Given the description of an element on the screen output the (x, y) to click on. 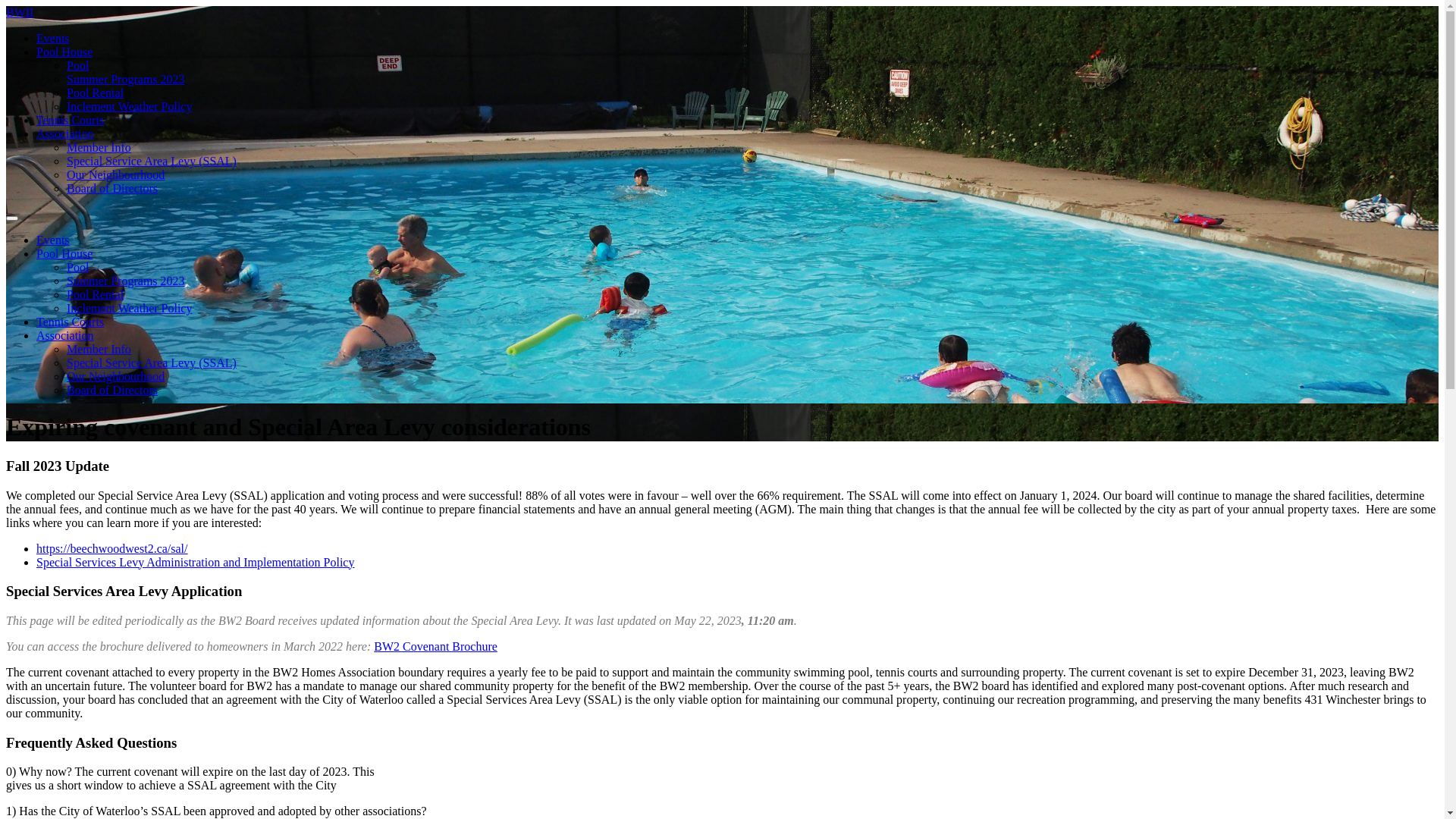
Special Service Area Levy (SSAL) Element type: text (151, 362)
Special Service Area Levy (SSAL) Element type: text (151, 160)
Pool Rental Element type: text (94, 294)
Board of Directors Element type: text (111, 389)
Summer Programs 2023 Element type: text (125, 78)
Association Element type: text (65, 133)
Board of Directors Element type: text (111, 188)
Inclement Weather Policy Element type: text (128, 307)
Association Element type: text (65, 335)
Pool House Element type: text (64, 51)
Events Element type: text (52, 37)
Our Neighbourhood Element type: text (115, 376)
BW2 Covenant Brochure Element type: text (435, 646)
Pool House Element type: text (64, 253)
Inclement Weather Policy Element type: text (128, 106)
Pool Element type: text (77, 266)
https://beechwoodwest2.ca/sal/ Element type: text (112, 548)
Events Element type: text (52, 239)
Pool Element type: text (77, 65)
Tennis Courts Element type: text (69, 321)
Summer Programs 2023 Element type: text (125, 280)
Tennis Courts Element type: text (69, 119)
Member Info Element type: text (98, 147)
Our Neighbourhood Element type: text (115, 174)
Pool Rental Element type: text (94, 92)
Member Info Element type: text (98, 348)
BWII Element type: text (19, 12)
